Given the description of an element on the screen output the (x, y) to click on. 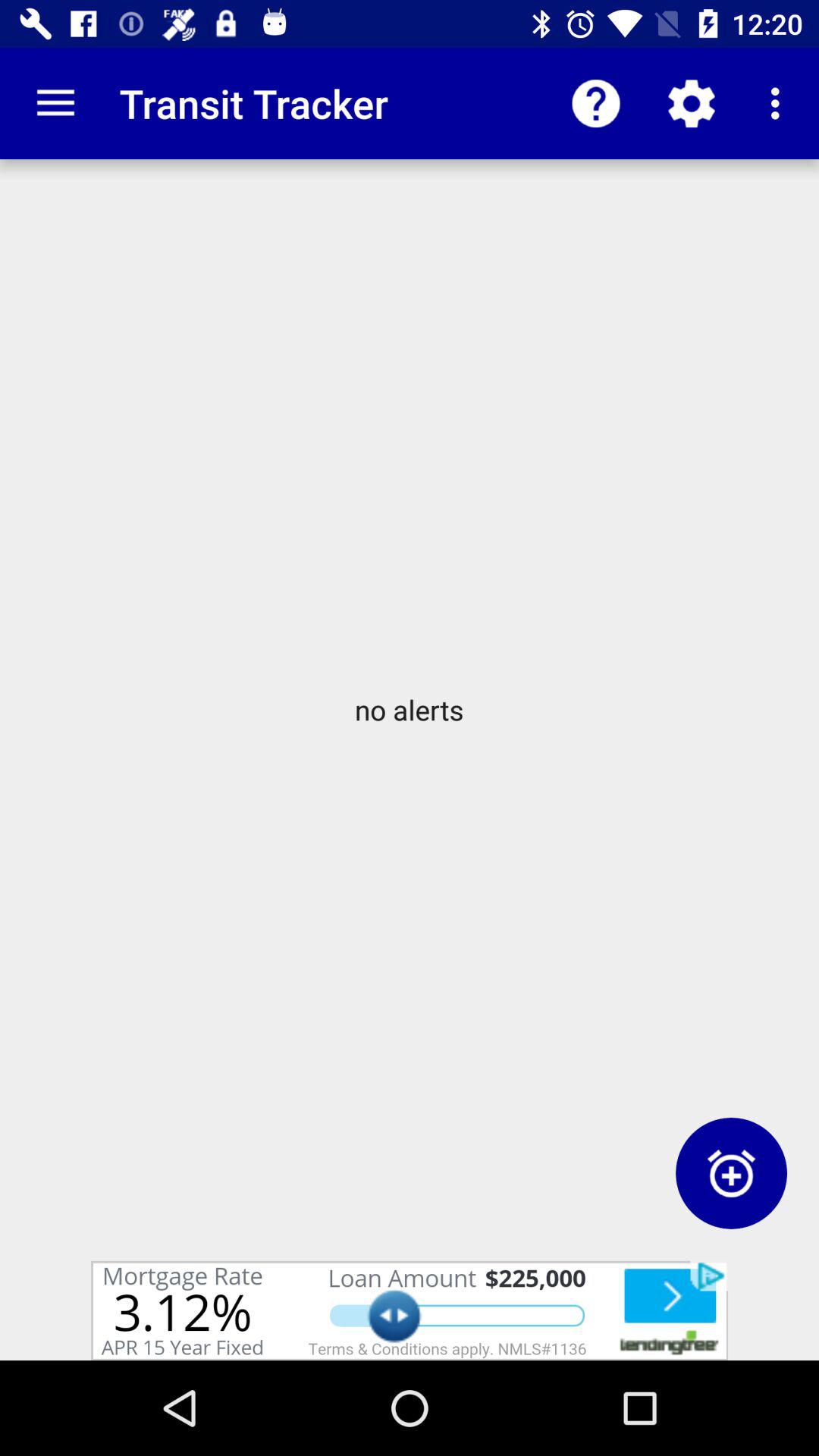
create alert (731, 1173)
